Given the description of an element on the screen output the (x, y) to click on. 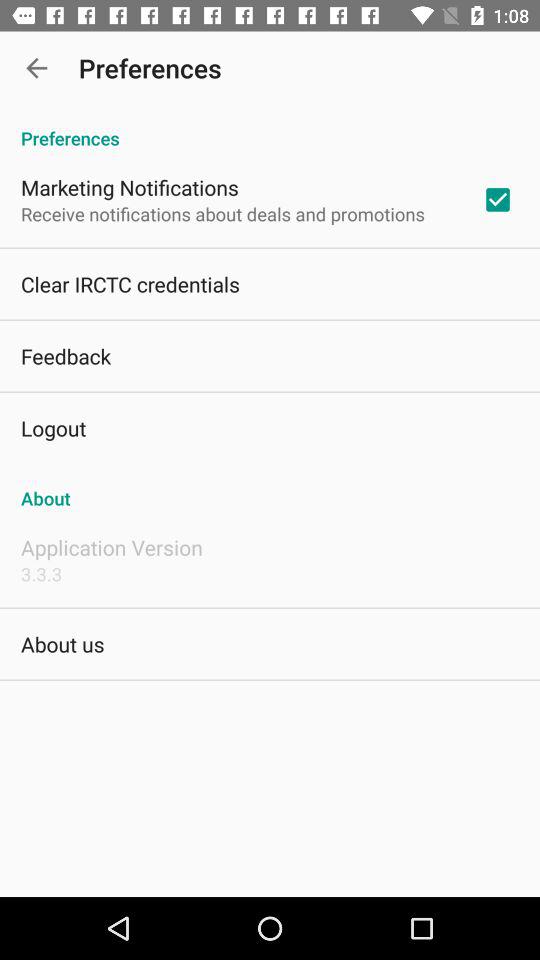
launch receive notifications about icon (222, 213)
